Given the description of an element on the screen output the (x, y) to click on. 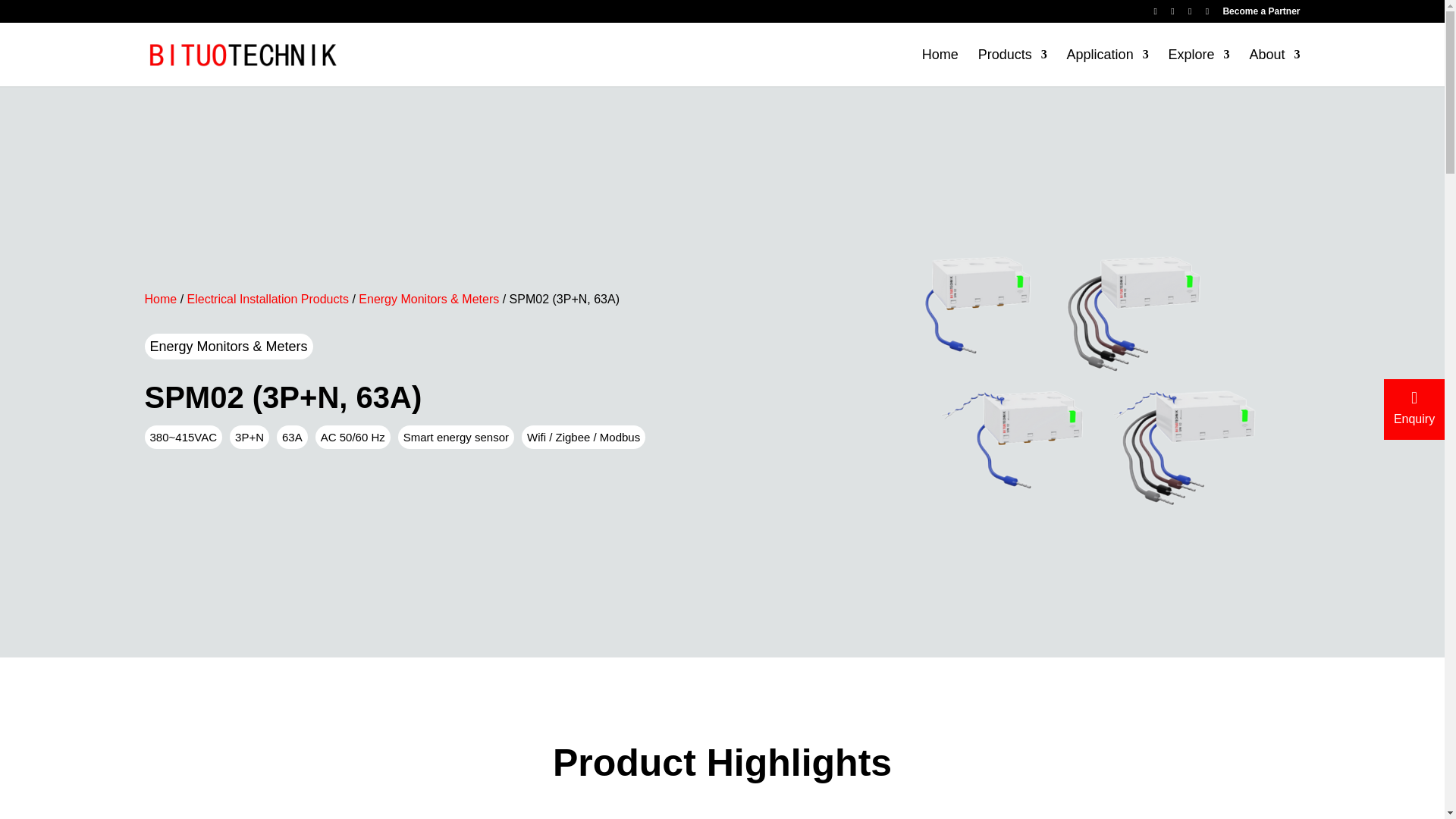
Products (1012, 67)
Become a Partner (1261, 14)
Explore (1199, 67)
Home (939, 67)
About (1274, 67)
Application (1107, 67)
